Given the description of an element on the screen output the (x, y) to click on. 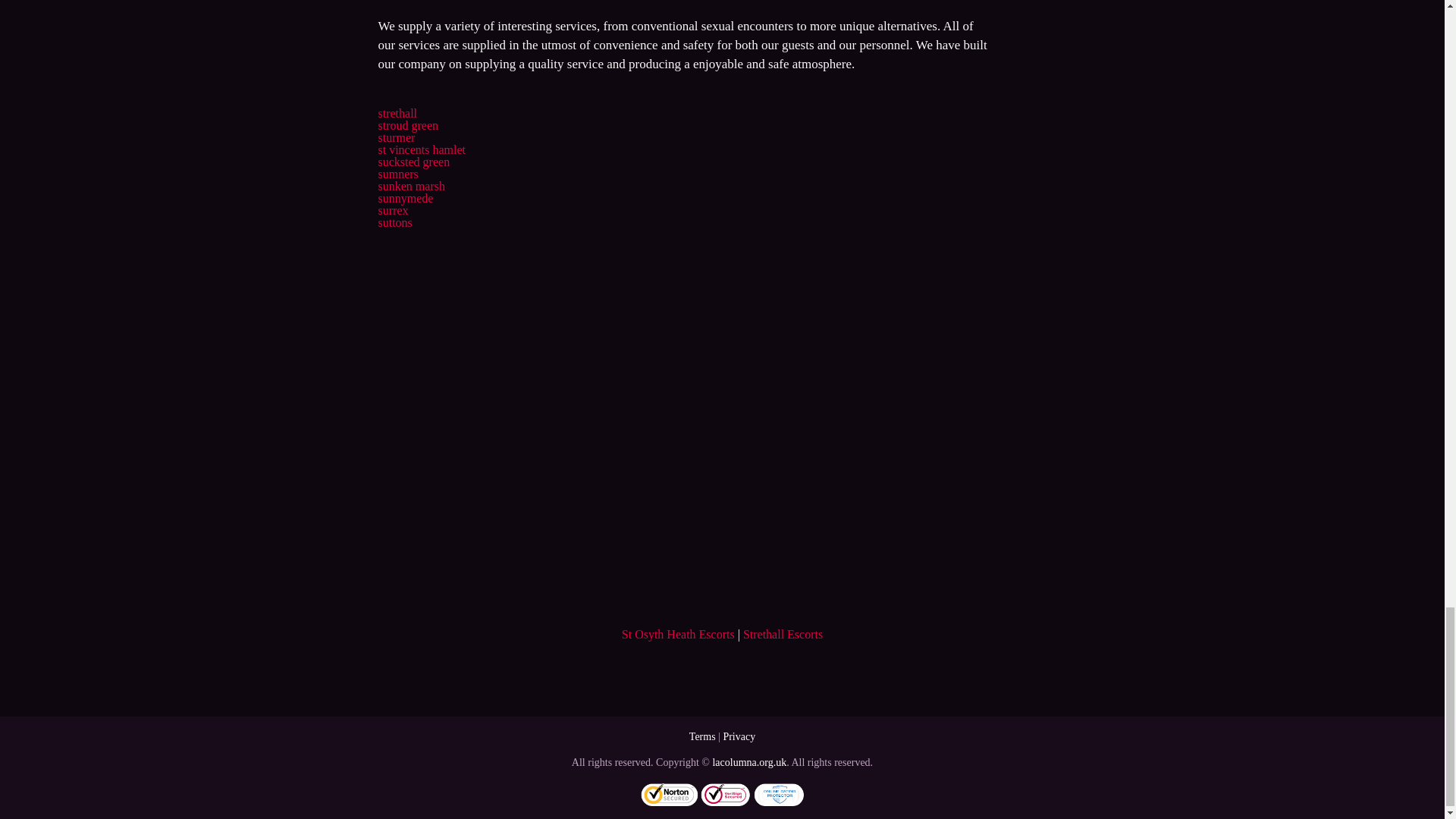
Privacy (738, 736)
st vincents hamlet (421, 149)
sumners (397, 173)
strethall (396, 113)
Terms (702, 736)
Privacy (738, 736)
sucksted green (413, 161)
Strethall Escorts (782, 634)
Terms (702, 736)
St Osyth Heath Escorts (678, 634)
sunnymede (404, 197)
sturmer (395, 137)
suttons (394, 222)
sunken marsh (410, 185)
stroud green (407, 124)
